Given the description of an element on the screen output the (x, y) to click on. 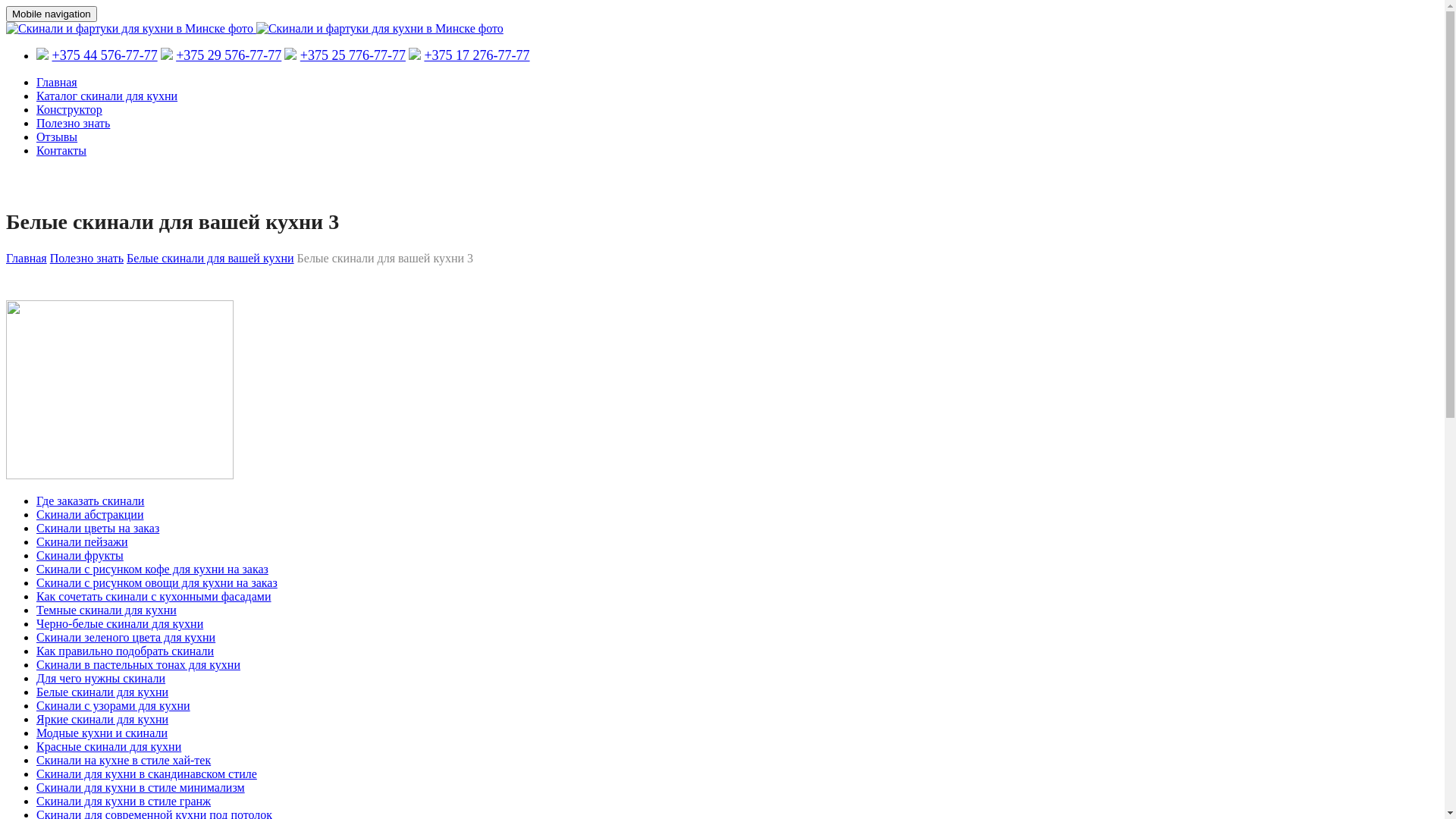
+375 44 576-77-77 Element type: text (103, 54)
Mobile navigation Element type: text (51, 13)
+375 25 776-77-77 Element type: text (352, 54)
+375 29 576-77-77 Element type: text (228, 54)
+375 17 276-77-77 Element type: text (476, 54)
